Given the description of an element on the screen output the (x, y) to click on. 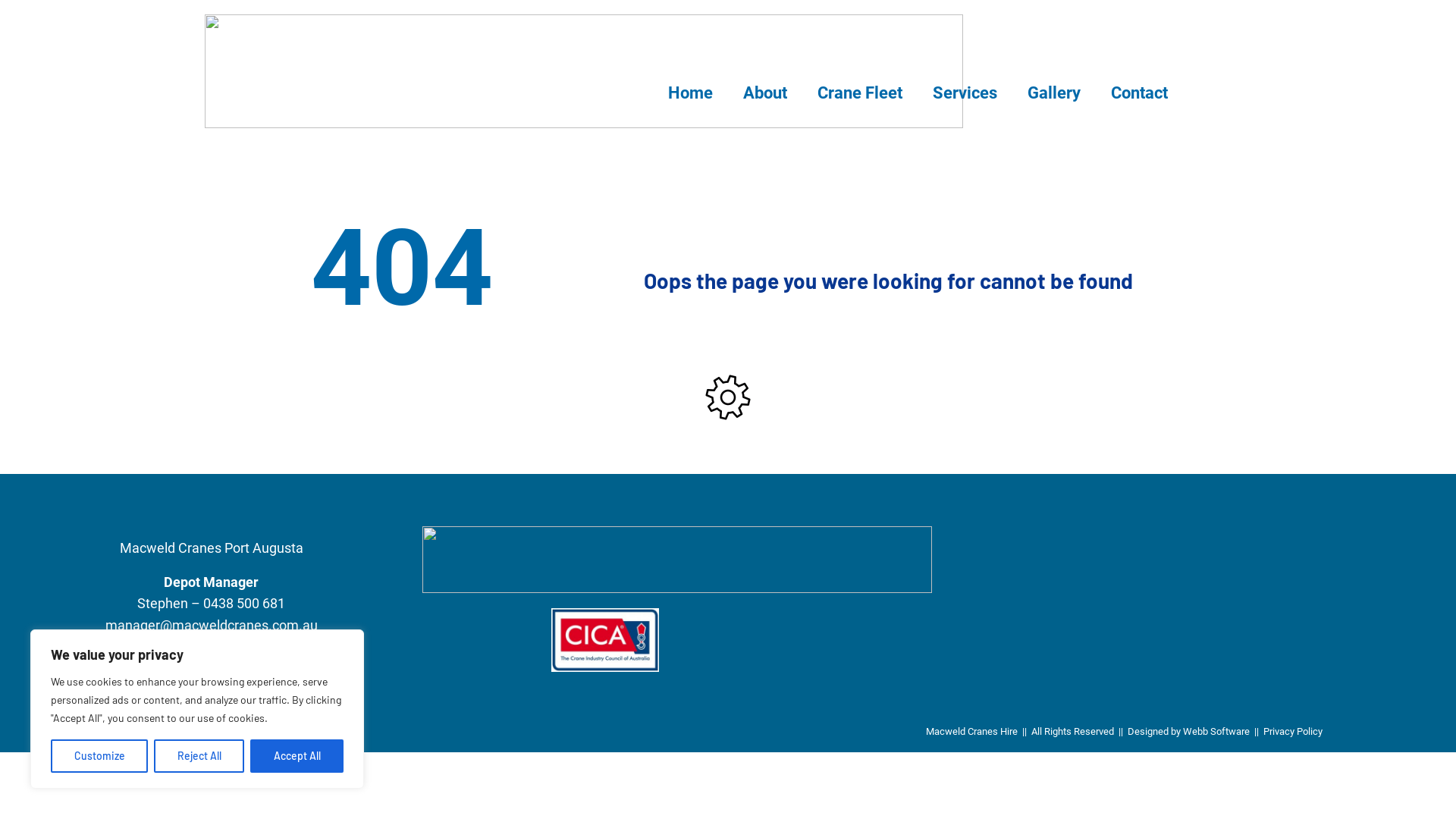
About Element type: text (765, 92)
Customize Element type: text (98, 755)
Contact Element type: text (1139, 92)
Designed by Webb Software Element type: text (1188, 731)
0438 500 681 Element type: text (244, 603)
Lot 945 Footner Road, Port Augusta SA 5700 Element type: hover (1116, 610)
Home Element type: text (690, 92)
Services Element type: text (964, 92)
manager@macweldcranes.com.au Element type: text (211, 625)
Privacy Policy Element type: text (1292, 731)
Crane Fleet Element type: text (859, 92)
Reject All Element type: text (198, 755)
Accept All Element type: text (296, 755)
Gallery Element type: text (1053, 92)
